Given the description of an element on the screen output the (x, y) to click on. 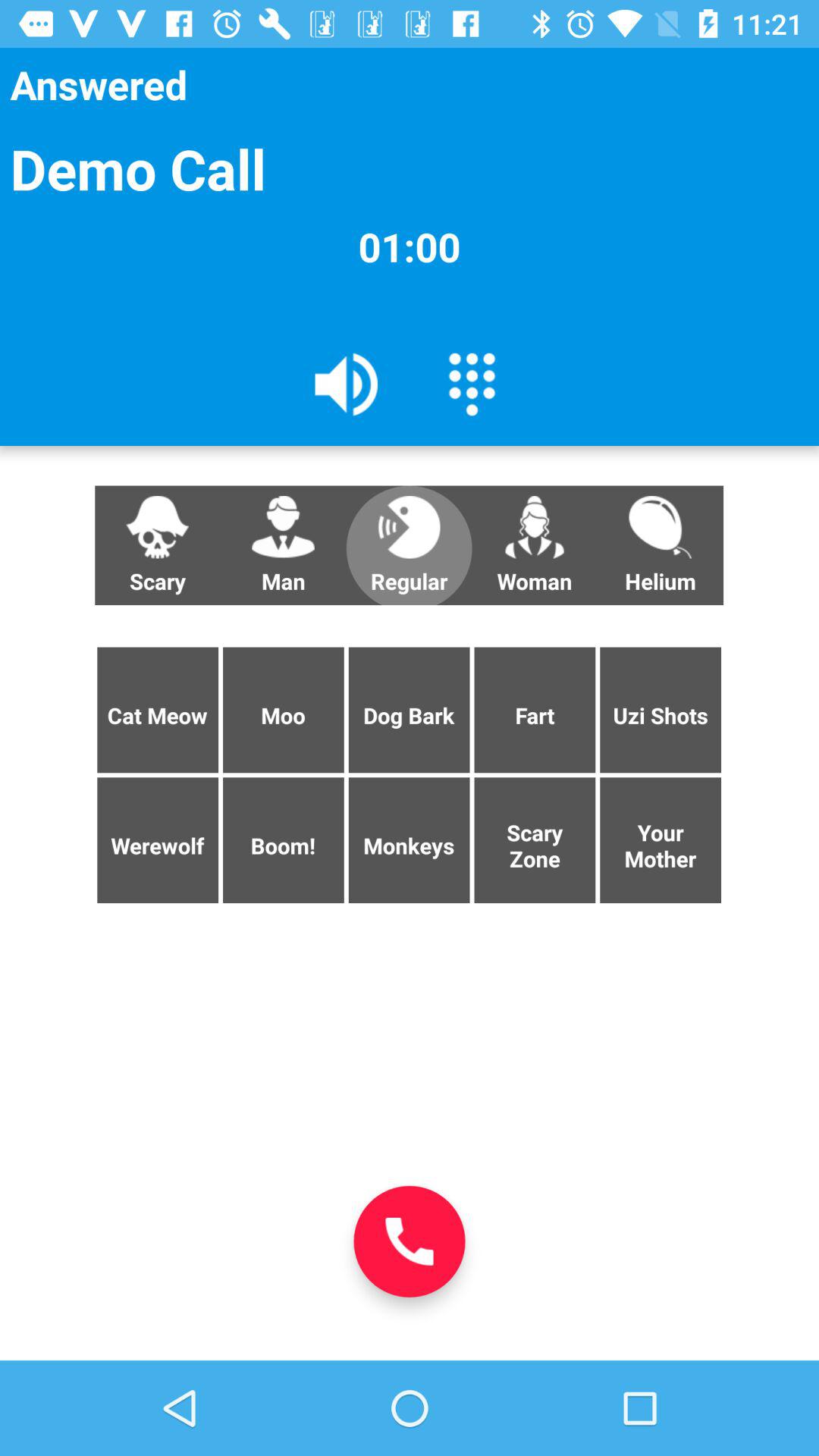
launch the app below monkeys app (409, 1241)
